Given the description of an element on the screen output the (x, y) to click on. 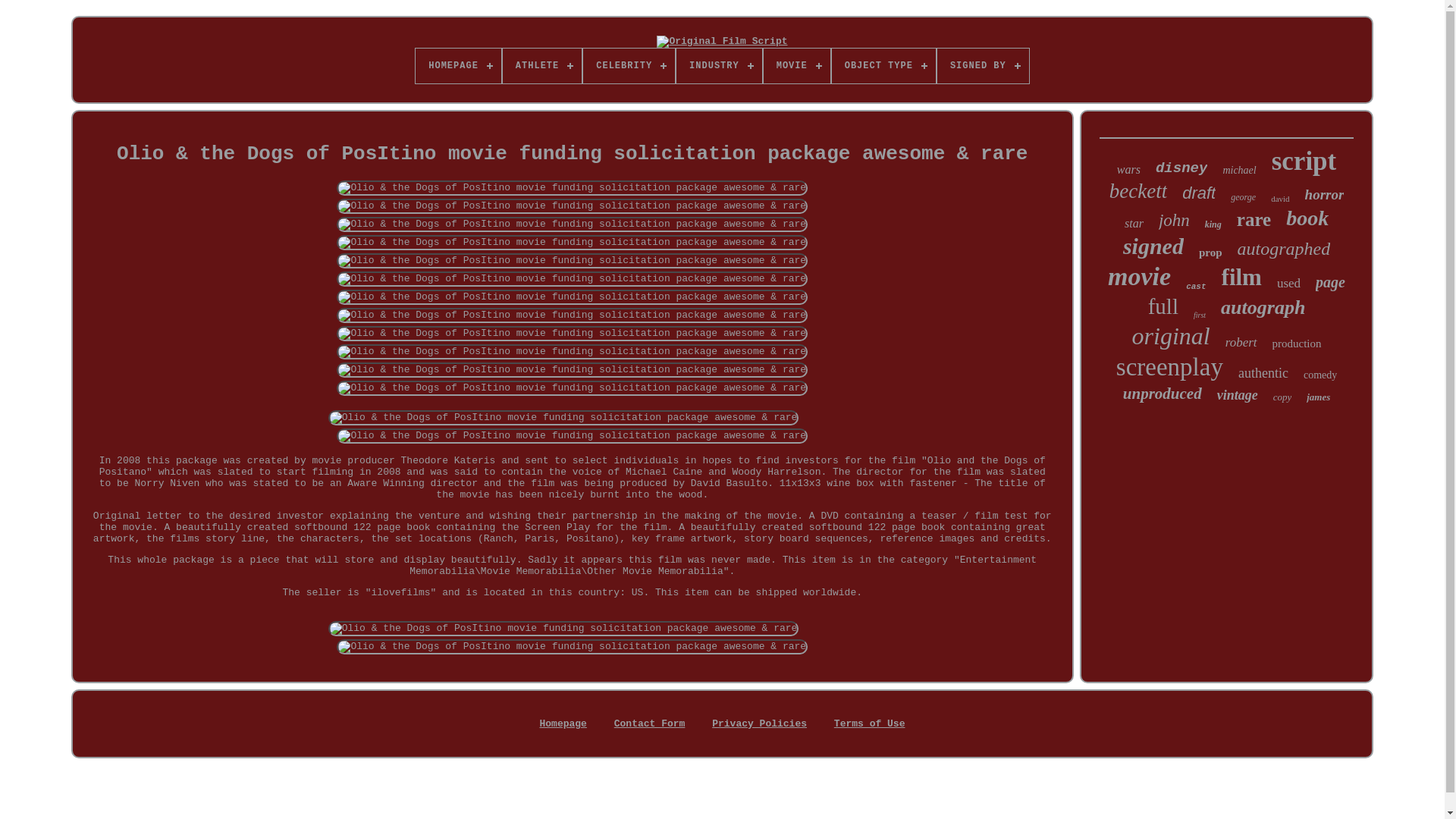
INDUSTRY (719, 65)
ATHLETE (541, 65)
CELEBRITY (629, 65)
MOVIE (795, 65)
HOMEPAGE (457, 65)
